Given the description of an element on the screen output the (x, y) to click on. 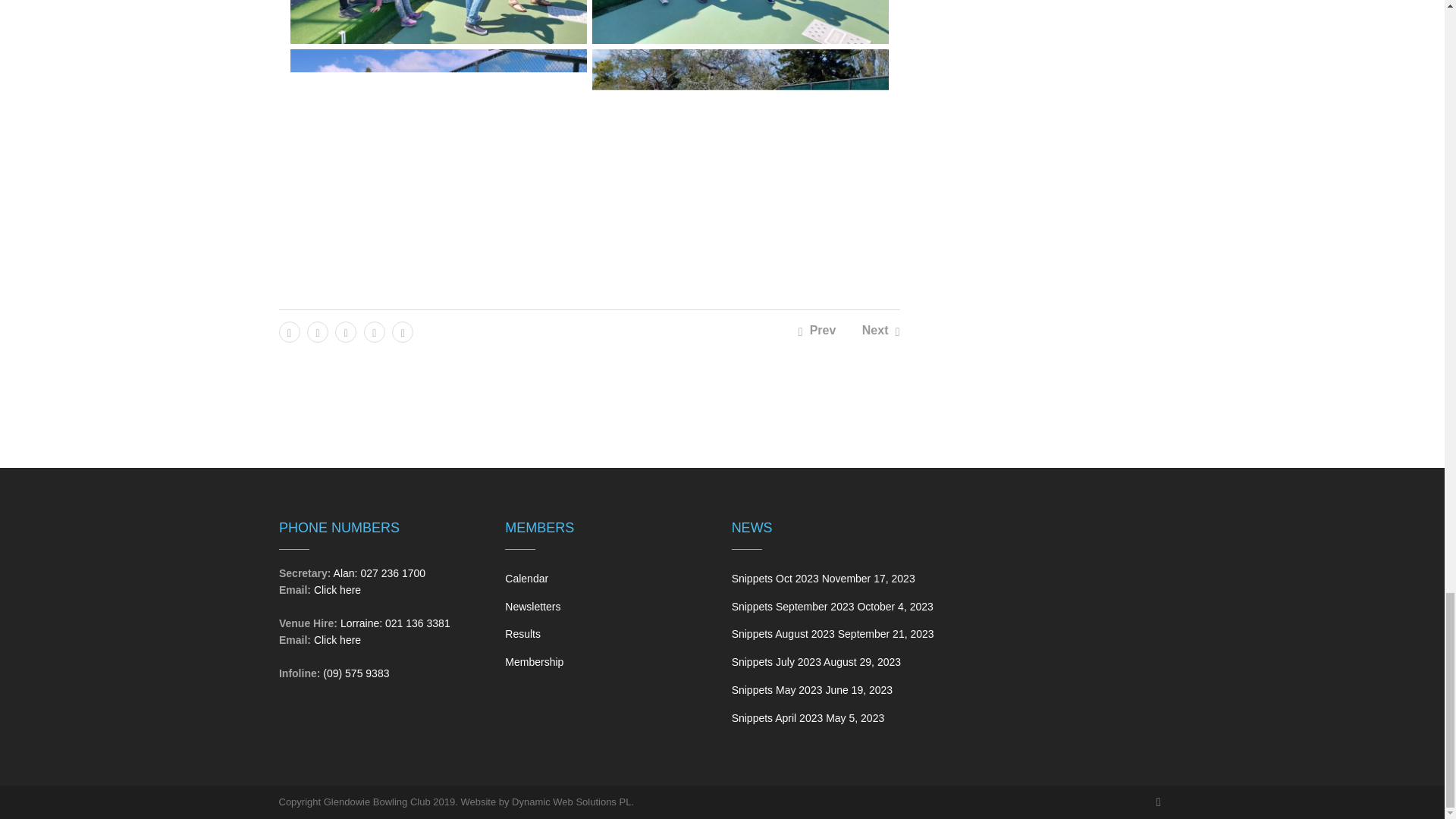
Alan: 027 236 1700 (379, 573)
Next (880, 329)
Prev (816, 329)
Results (522, 633)
Calendar (526, 578)
Newsletters (532, 606)
Share on Facebook (289, 332)
Share on Google Plus (345, 332)
Share on Linkedin (402, 332)
Lorraine: 021 136 3381 (394, 623)
